Given the description of an element on the screen output the (x, y) to click on. 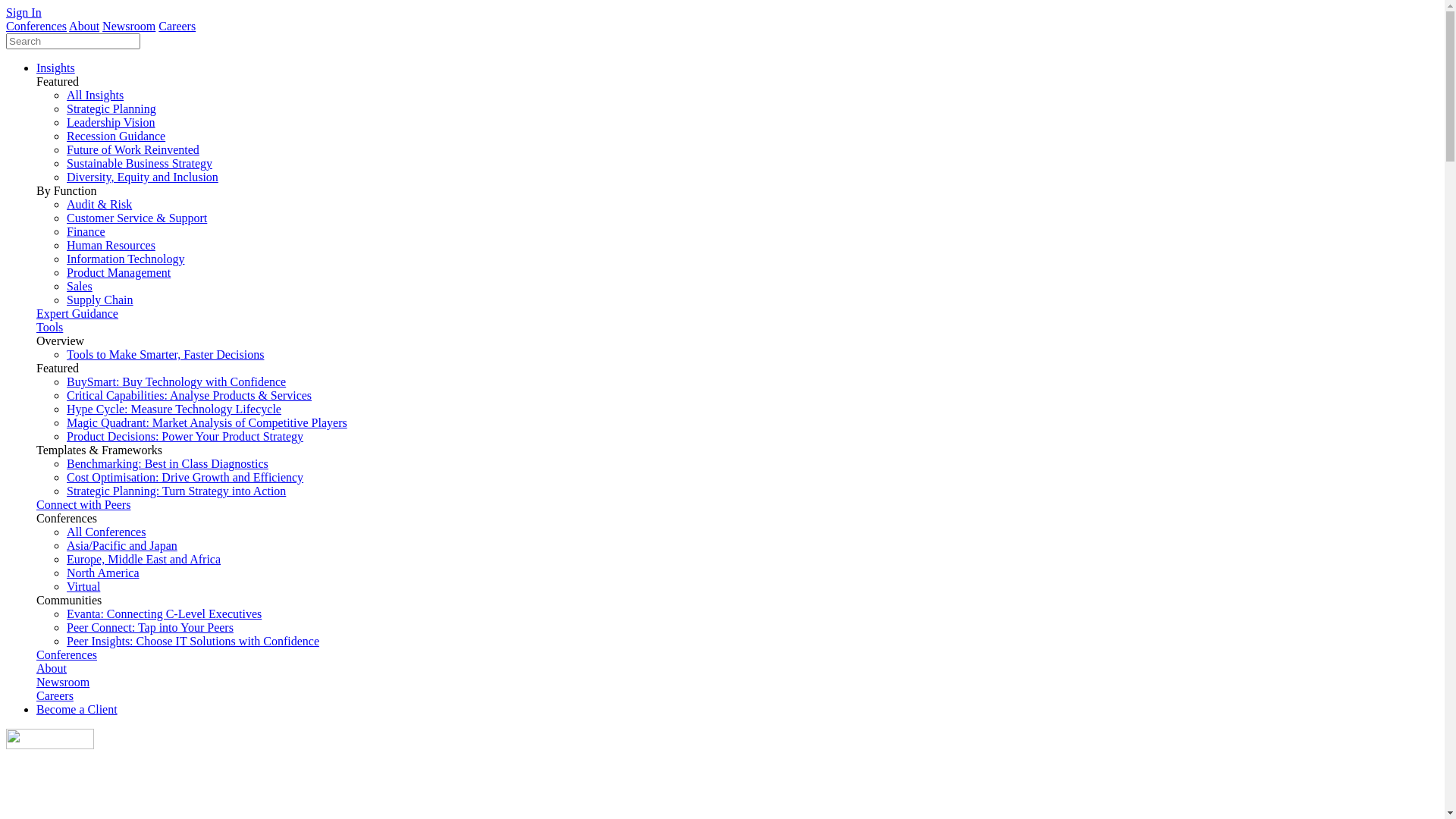
About Element type: text (51, 668)
Conferences Element type: text (36, 25)
Diversity, Equity and Inclusion Element type: text (142, 176)
Cost Optimisation: Drive Growth and Efficiency Element type: text (184, 476)
Sustainable Business Strategy Element type: text (139, 162)
Customer Service & Support Element type: text (136, 217)
Sign In Element type: text (23, 12)
Hype Cycle: Measure Technology Lifecycle Element type: text (173, 408)
Finance Element type: text (85, 231)
Critical Capabilities: Analyse Products & Services Element type: text (188, 395)
Newsroom Element type: text (62, 681)
Recession Guidance Element type: text (115, 135)
Strategic Planning: Turn Strategy into Action Element type: text (175, 490)
Leadership Vision Element type: text (110, 122)
Peer Connect: Tap into Your Peers Element type: text (149, 627)
Tools Element type: text (49, 326)
Europe, Middle East and Africa Element type: text (143, 558)
Future of Work Reinvented Element type: text (132, 149)
Newsroom Element type: text (128, 25)
Information Technology Element type: text (125, 258)
Careers Element type: text (176, 25)
Magic Quadrant: Market Analysis of Competitive Players Element type: text (206, 422)
Connect with Peers Element type: text (83, 504)
Tools to Make Smarter, Faster Decisions Element type: text (164, 354)
Product Decisions: Power Your Product Strategy Element type: text (184, 435)
Sales Element type: text (79, 285)
Conferences Element type: text (66, 654)
Product Management Element type: text (118, 272)
Supply Chain Element type: text (99, 299)
Asia/Pacific and Japan Element type: text (121, 545)
Peer Insights: Choose IT Solutions with Confidence Element type: text (192, 640)
Careers Element type: text (54, 695)
Evanta: Connecting C-Level Executives Element type: text (163, 613)
All Insights Element type: text (94, 94)
Expert Guidance Element type: text (77, 313)
About Element type: text (84, 25)
Human Resources Element type: text (110, 244)
Virtual Element type: text (83, 586)
Strategic Planning Element type: text (111, 108)
BuySmart: Buy Technology with Confidence Element type: text (175, 381)
Become a Client Element type: text (76, 708)
All Conferences Element type: text (105, 531)
North America Element type: text (102, 572)
Benchmarking: Best in Class Diagnostics Element type: text (167, 463)
Audit & Risk Element type: text (98, 203)
Insights Element type: text (55, 67)
